Given the description of an element on the screen output the (x, y) to click on. 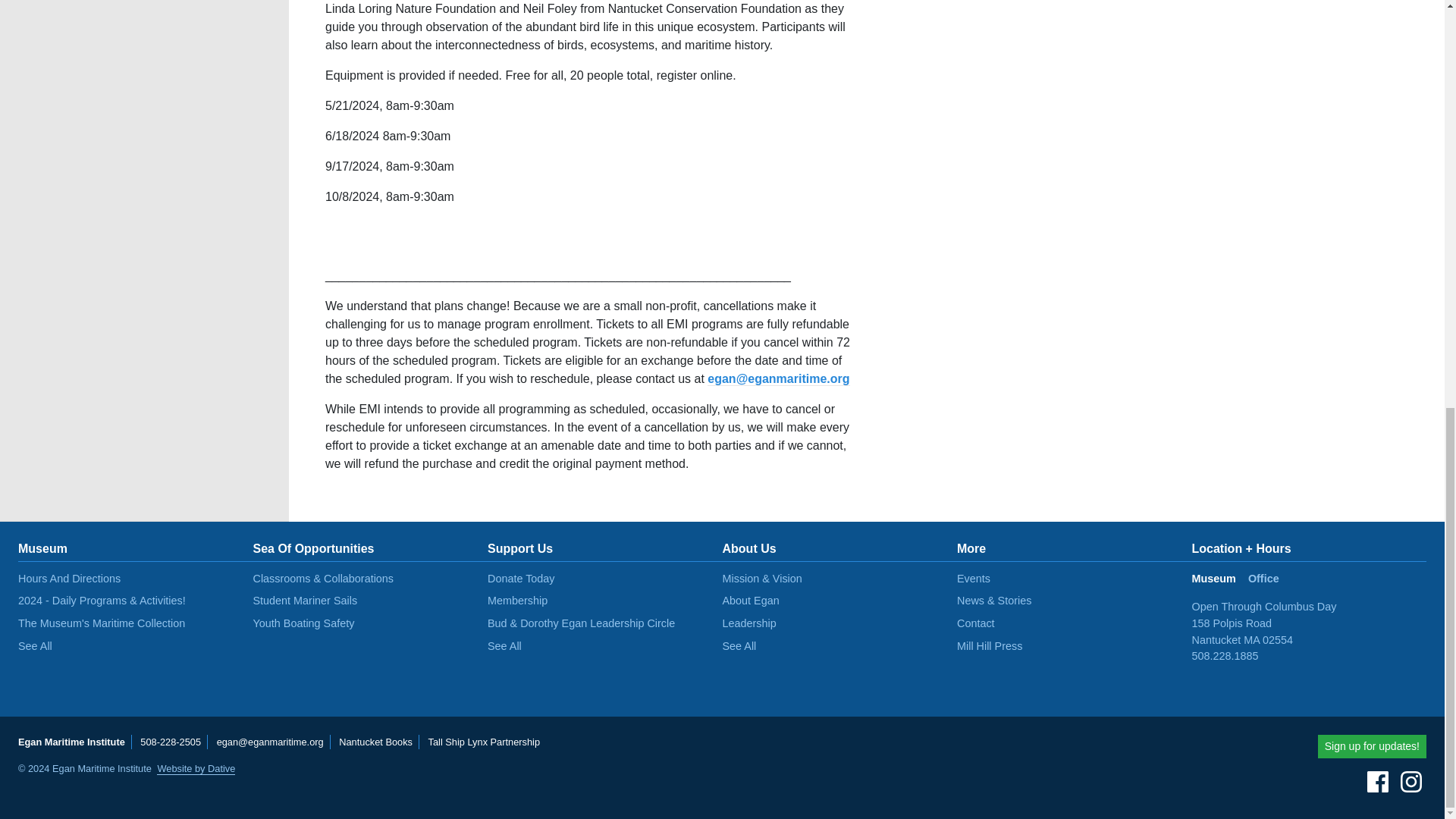
See All (504, 645)
Office (1269, 584)
Youth Boating Safety (304, 623)
About Egan (750, 600)
Student Mariner Sails (305, 600)
About Us (749, 548)
See All (34, 645)
Museum (41, 548)
Donate Today (520, 578)
Museum (1219, 584)
Events (973, 578)
The Museum'S Maritime Collection (100, 623)
See All (738, 645)
Hours And Directions (68, 578)
Sea Of Opportunities (313, 548)
